Given the description of an element on the screen output the (x, y) to click on. 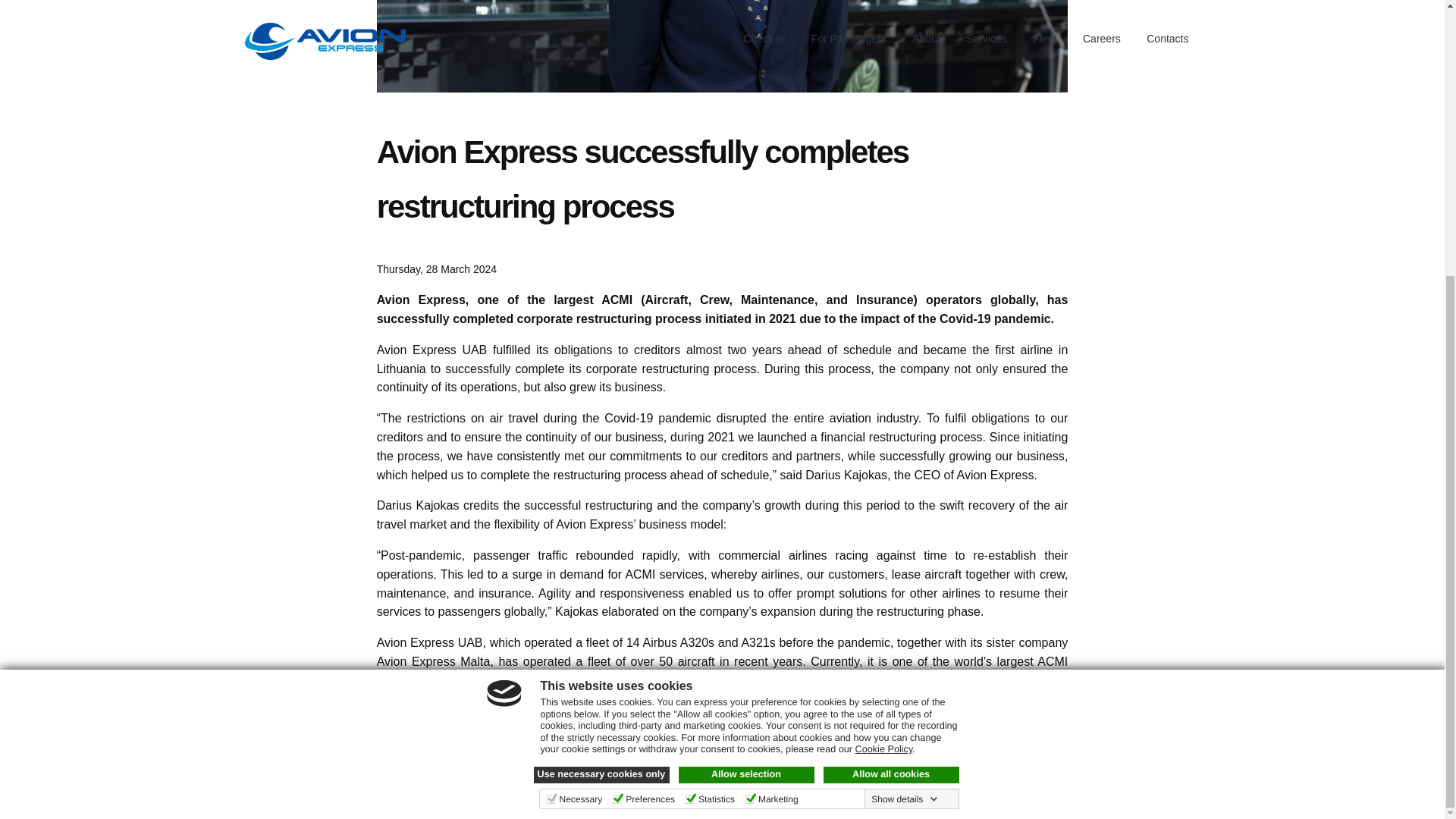
Cookie Policy (884, 341)
Allow all cookies (891, 367)
Use necessary cookies only (601, 367)
Show details (903, 391)
Allow selection (745, 367)
